Given the description of an element on the screen output the (x, y) to click on. 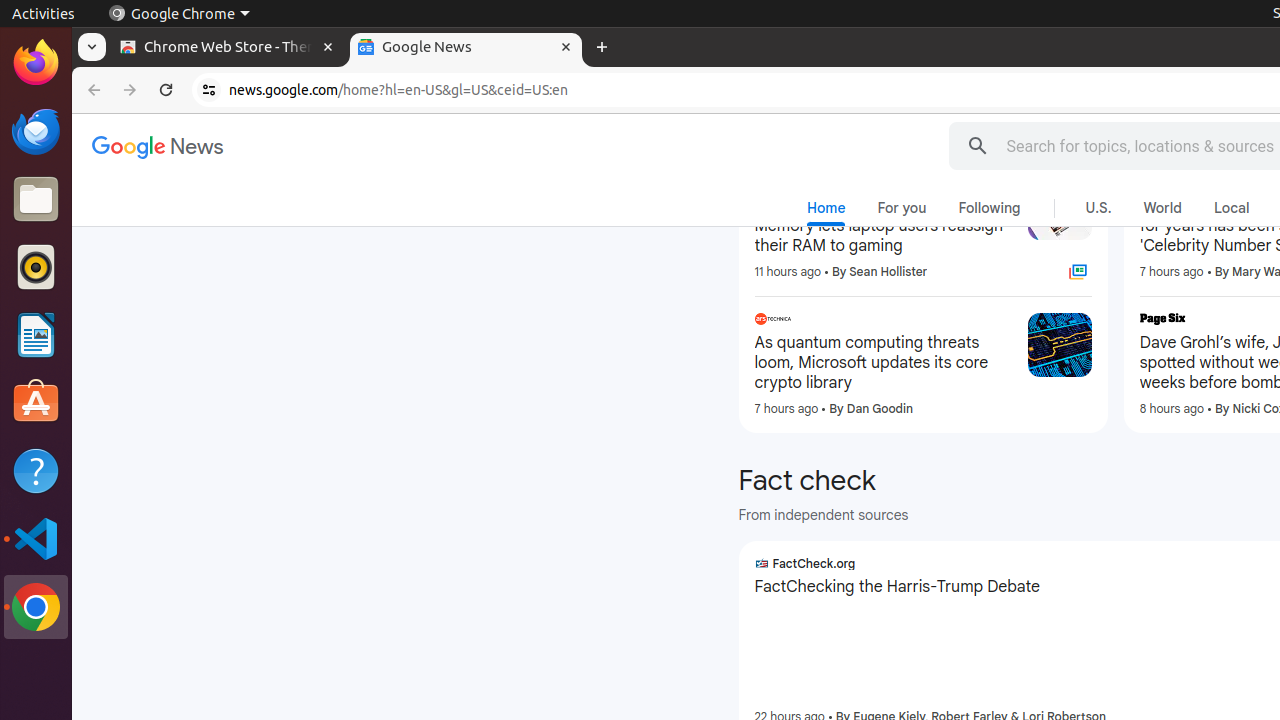
Help Element type: push-button (36, 470)
Home Element type: menu-item (826, 212)
Apple Releases iOS 18.1 Beta 3 for Upcoming iPhone 16 Models Element type: link (883, 89)
Reload Element type: push-button (166, 90)
Google Chrome Element type: push-button (36, 607)
